Given the description of an element on the screen output the (x, y) to click on. 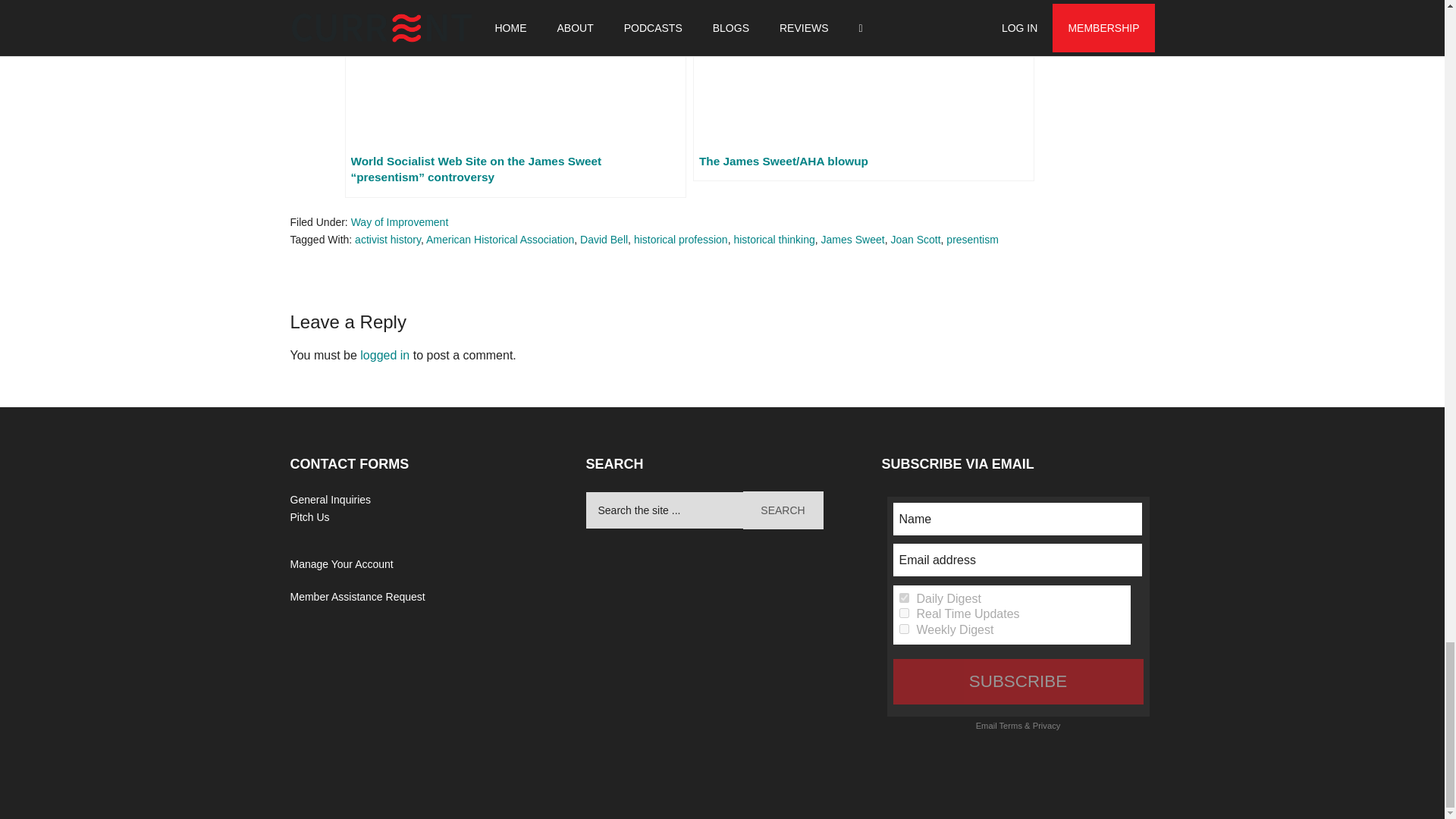
Name (1017, 518)
Frequency (903, 628)
1122538 (903, 613)
SUBSCRIBE (1017, 681)
SUBSCRIBE (1017, 681)
Email subscriptions terms of service (1010, 725)
Search (783, 510)
Email address (1017, 559)
Email subscriptions privacy policy (1046, 725)
1122541 (903, 628)
1122535 (903, 597)
Frequency (903, 613)
Frequency (903, 597)
Search (783, 510)
